Given the description of an element on the screen output the (x, y) to click on. 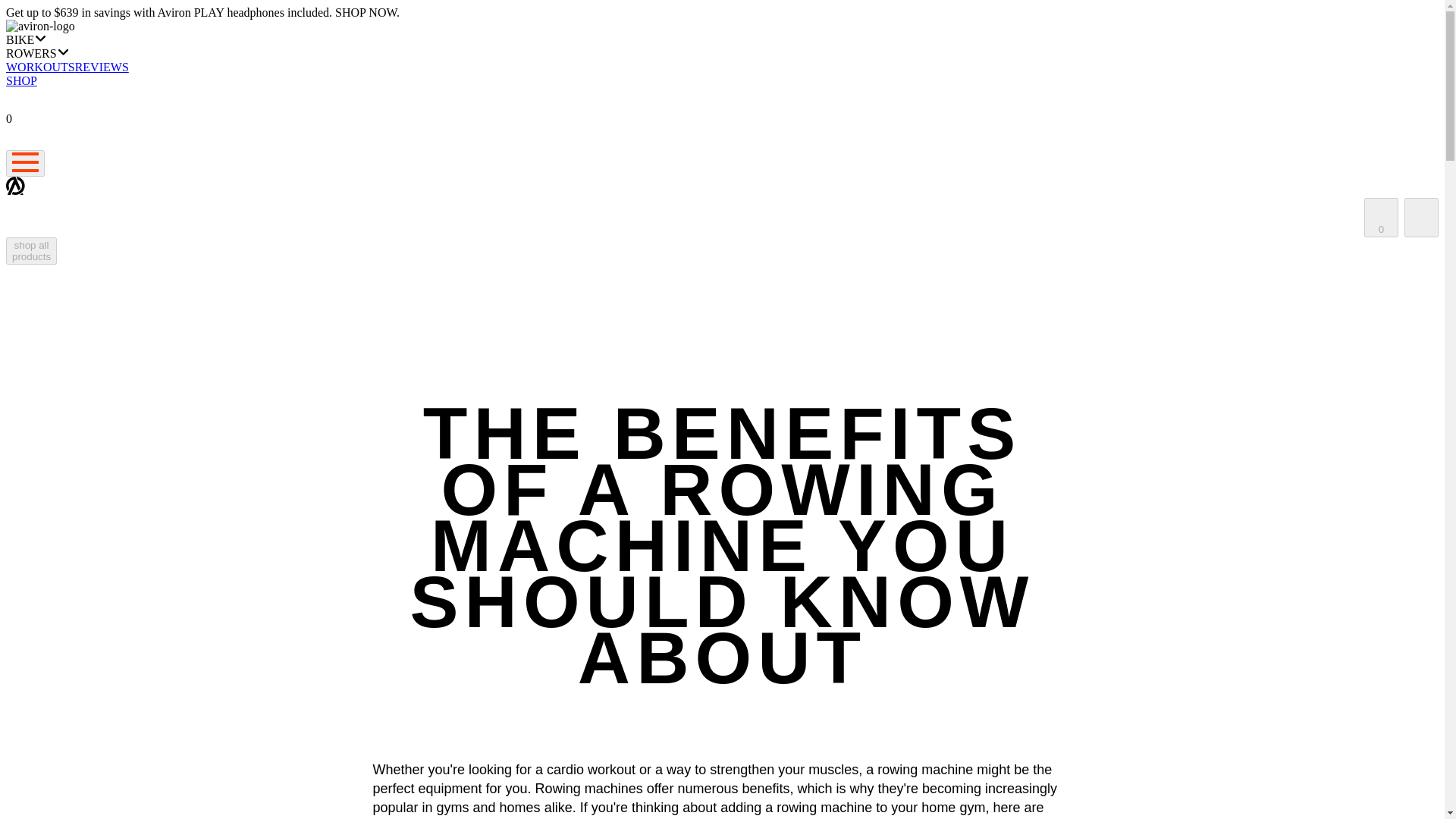
shop all products (30, 255)
shop all products (30, 250)
REVIEWS (102, 66)
WORKOUTS (40, 66)
